Given the description of an element on the screen output the (x, y) to click on. 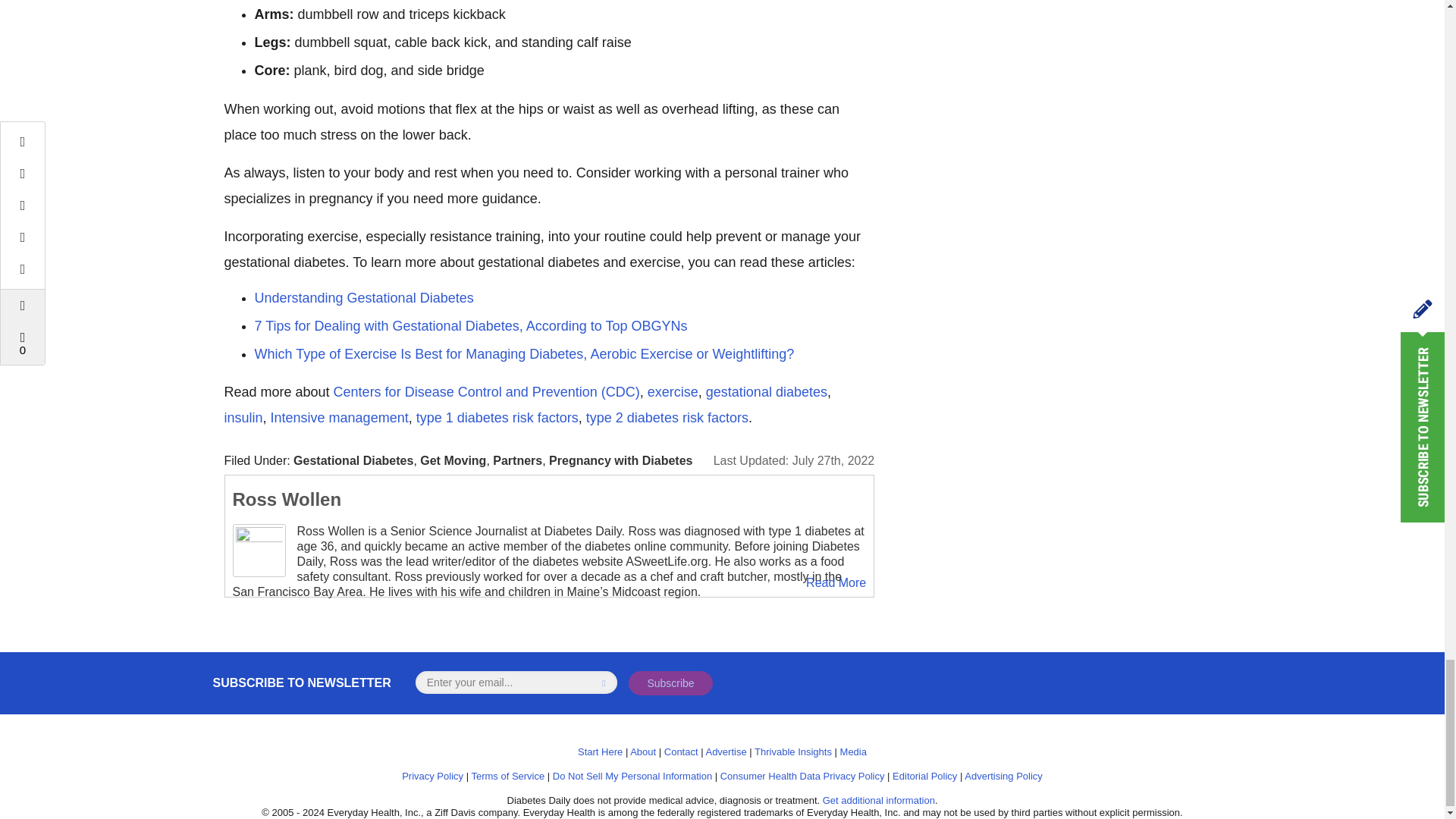
All posts by Ross Wollen (285, 498)
